Given the description of an element on the screen output the (x, y) to click on. 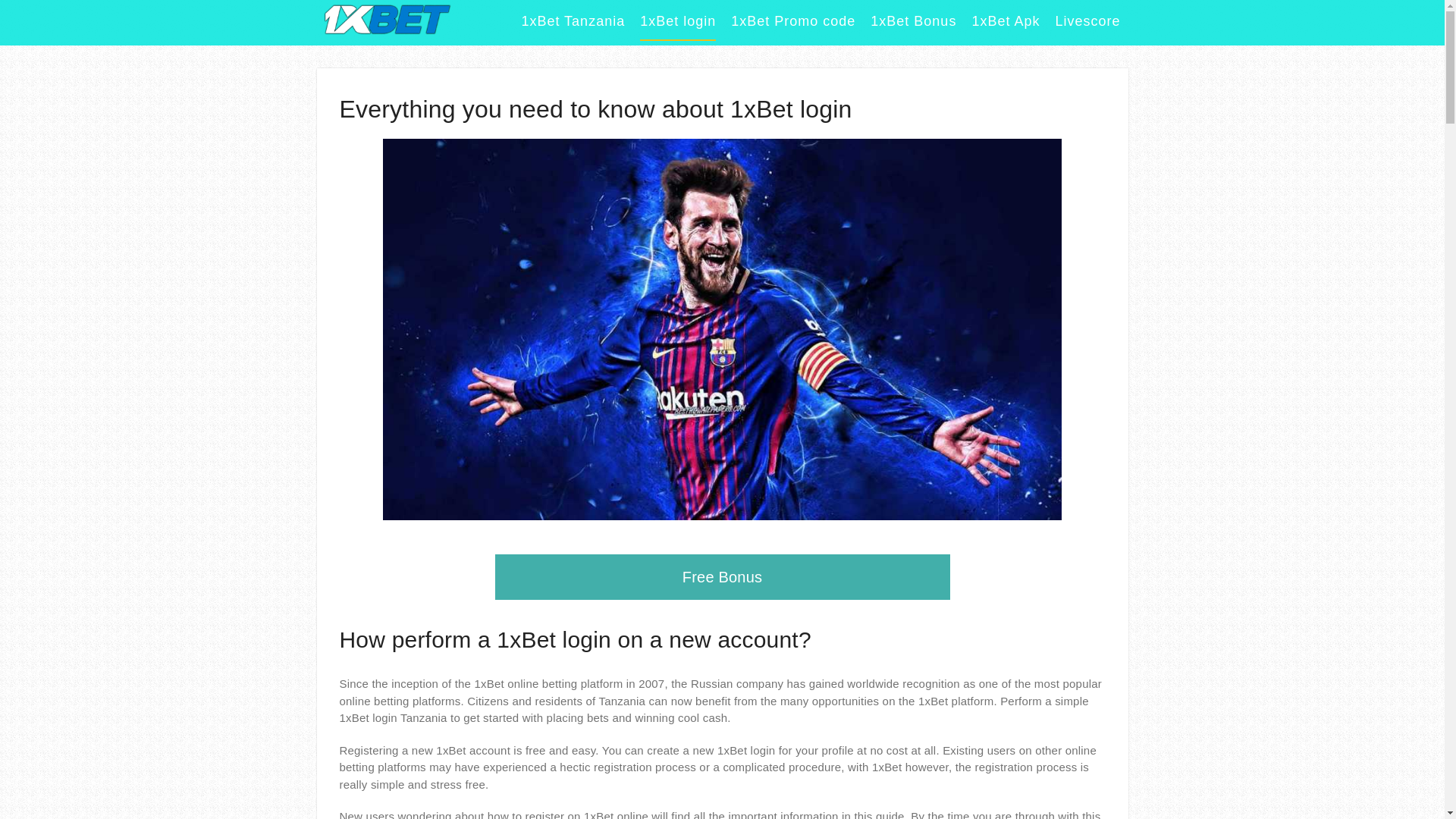
1xBet Bonus Element type: text (913, 25)
Free Bonus Element type: text (721, 576)
Livescore Element type: text (1087, 25)
1xBet Tanzania Element type: text (572, 25)
Skip to content Element type: text (0, 0)
1xBet login Element type: text (677, 25)
1xBet Apk Element type: text (1005, 25)
1xBet Promo code Element type: text (793, 25)
